Given the description of an element on the screen output the (x, y) to click on. 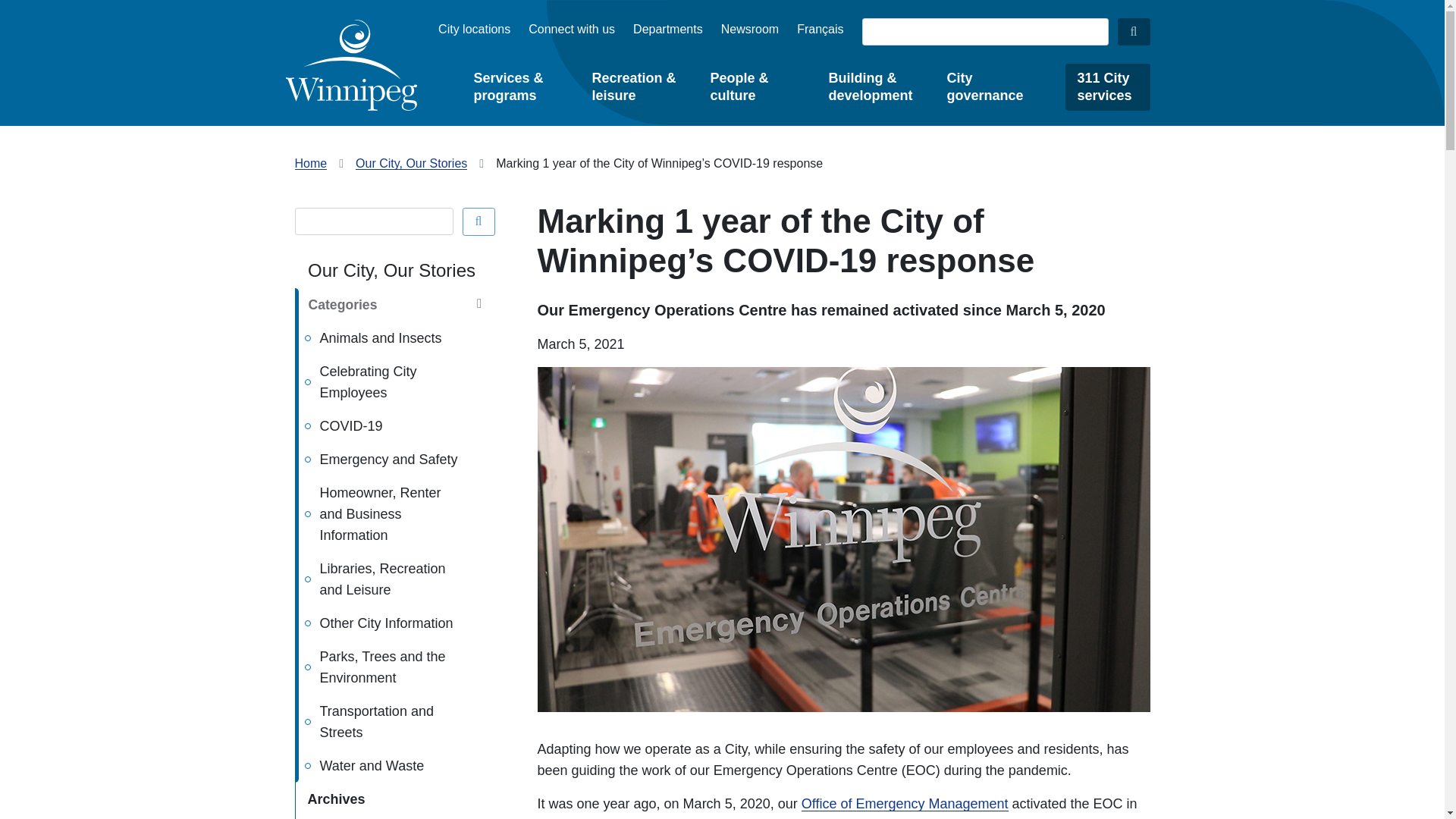
Newsroom (749, 29)
City locations (474, 29)
Connect with us (571, 29)
Departments (668, 29)
Home (350, 64)
